Given the description of an element on the screen output the (x, y) to click on. 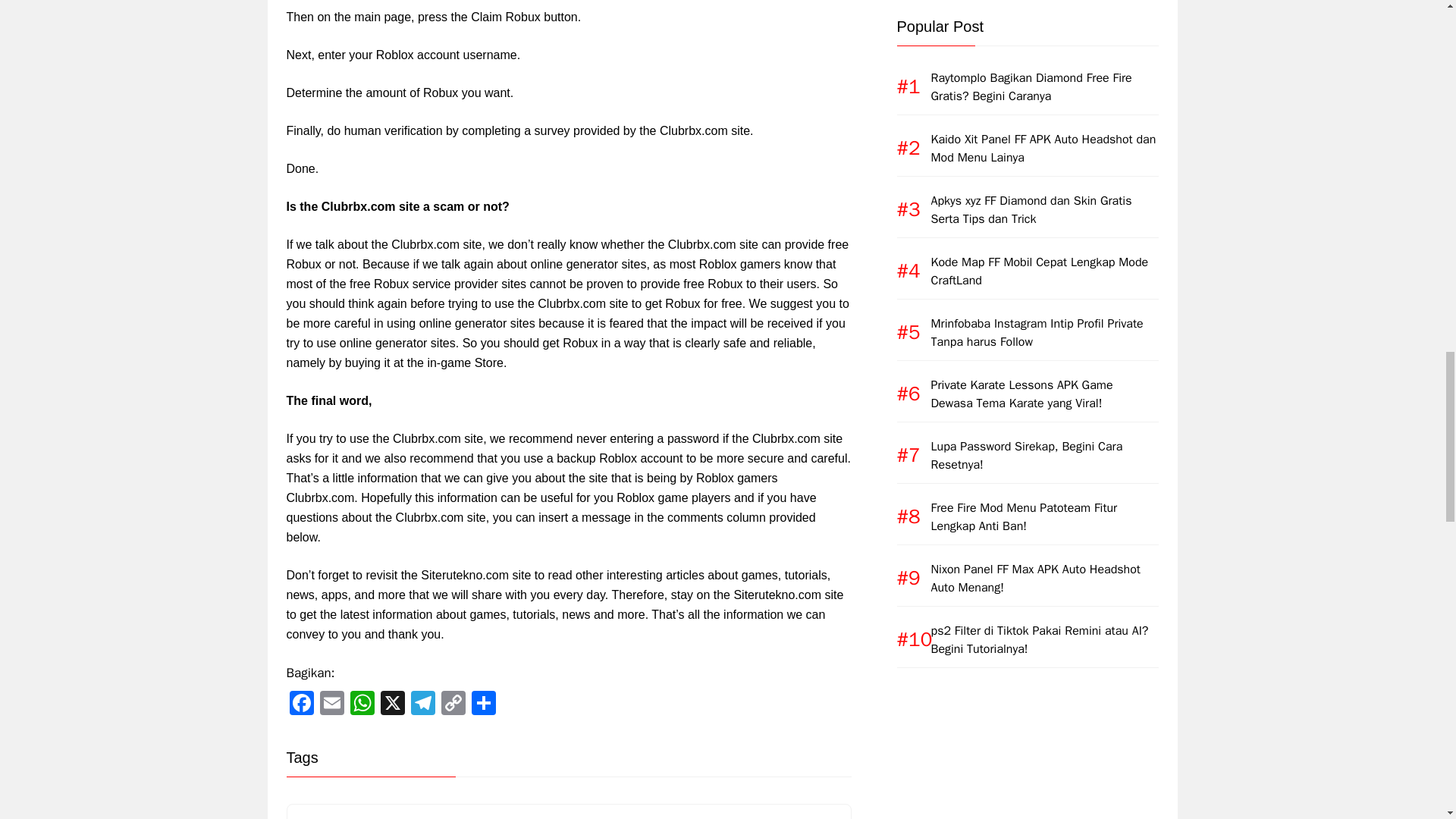
WhatsApp (362, 704)
Telegram (422, 704)
X (392, 704)
Email (332, 704)
Email (332, 704)
Facebook (301, 704)
Facebook (301, 704)
Copy Link (453, 704)
WhatsApp (362, 704)
Share (483, 704)
